Given the description of an element on the screen output the (x, y) to click on. 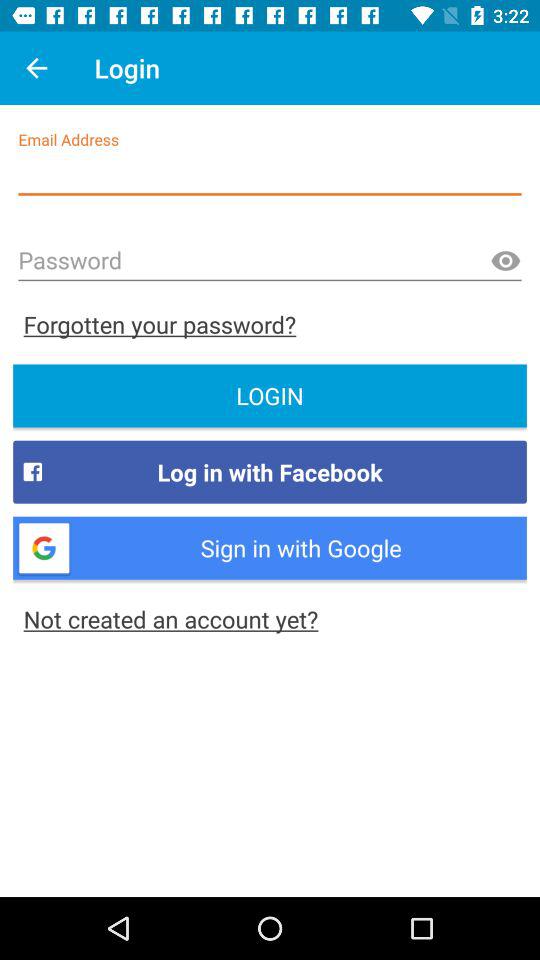
click to enter the email address (269, 174)
